Given the description of an element on the screen output the (x, y) to click on. 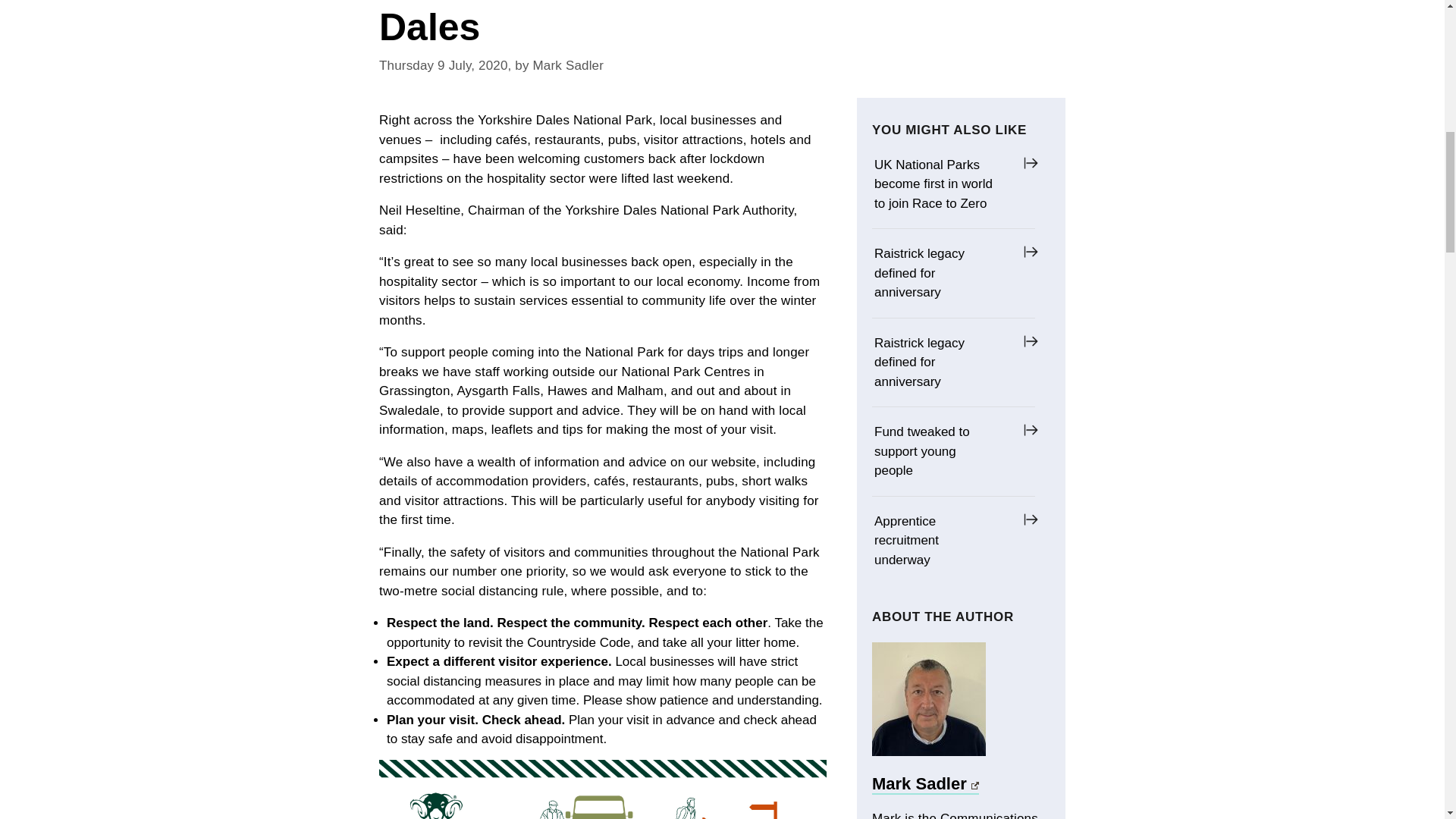
Raistrick legacy defined for anniversary (942, 273)
Fund tweaked to support young people (942, 451)
Apprentice recruitment underway (942, 540)
Raistrick legacy defined for anniversary (942, 362)
UK National Parks become first in world to join Race to Zero (942, 183)
